Given the description of an element on the screen output the (x, y) to click on. 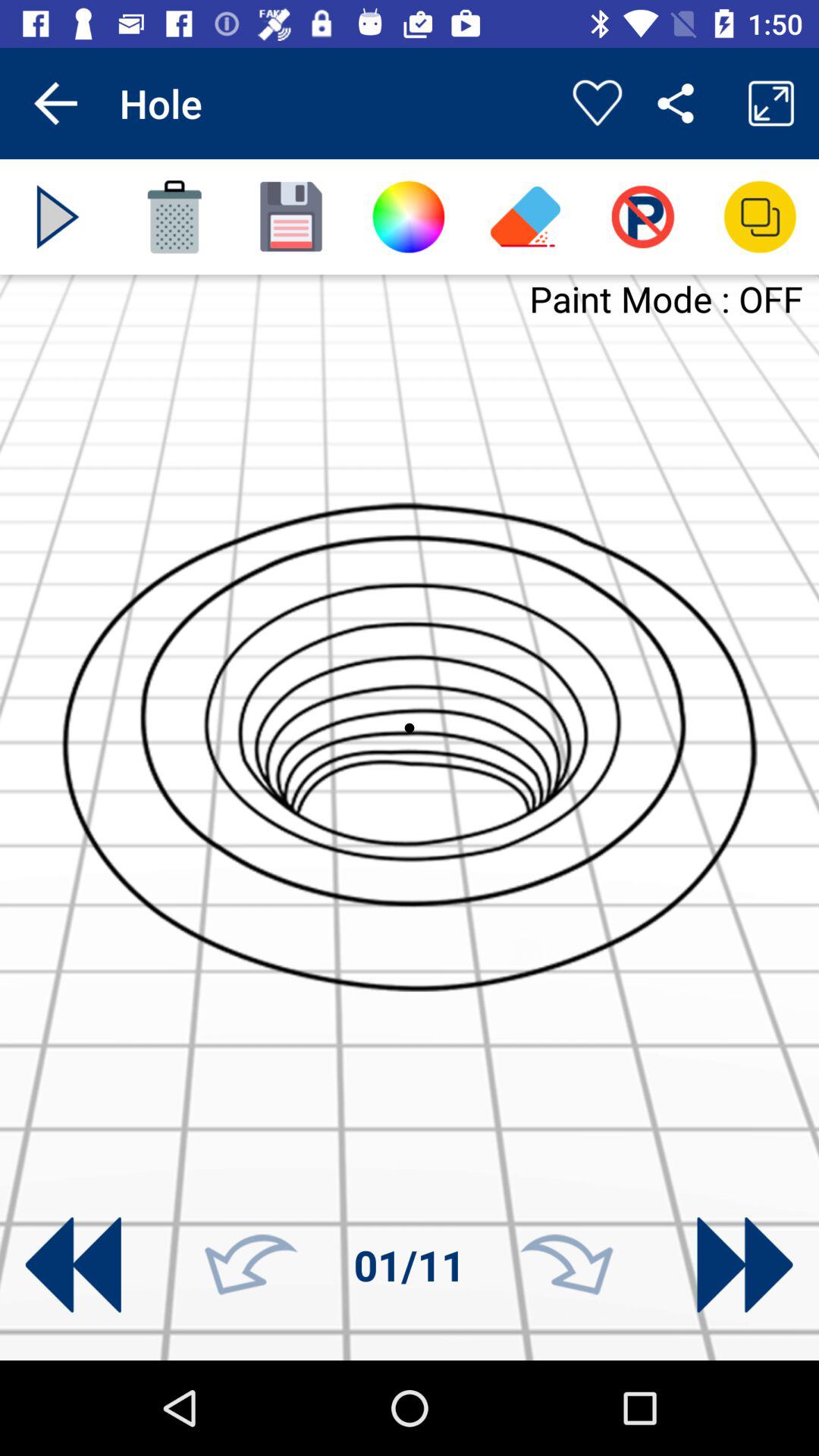
rewind (73, 1264)
